Given the description of an element on the screen output the (x, y) to click on. 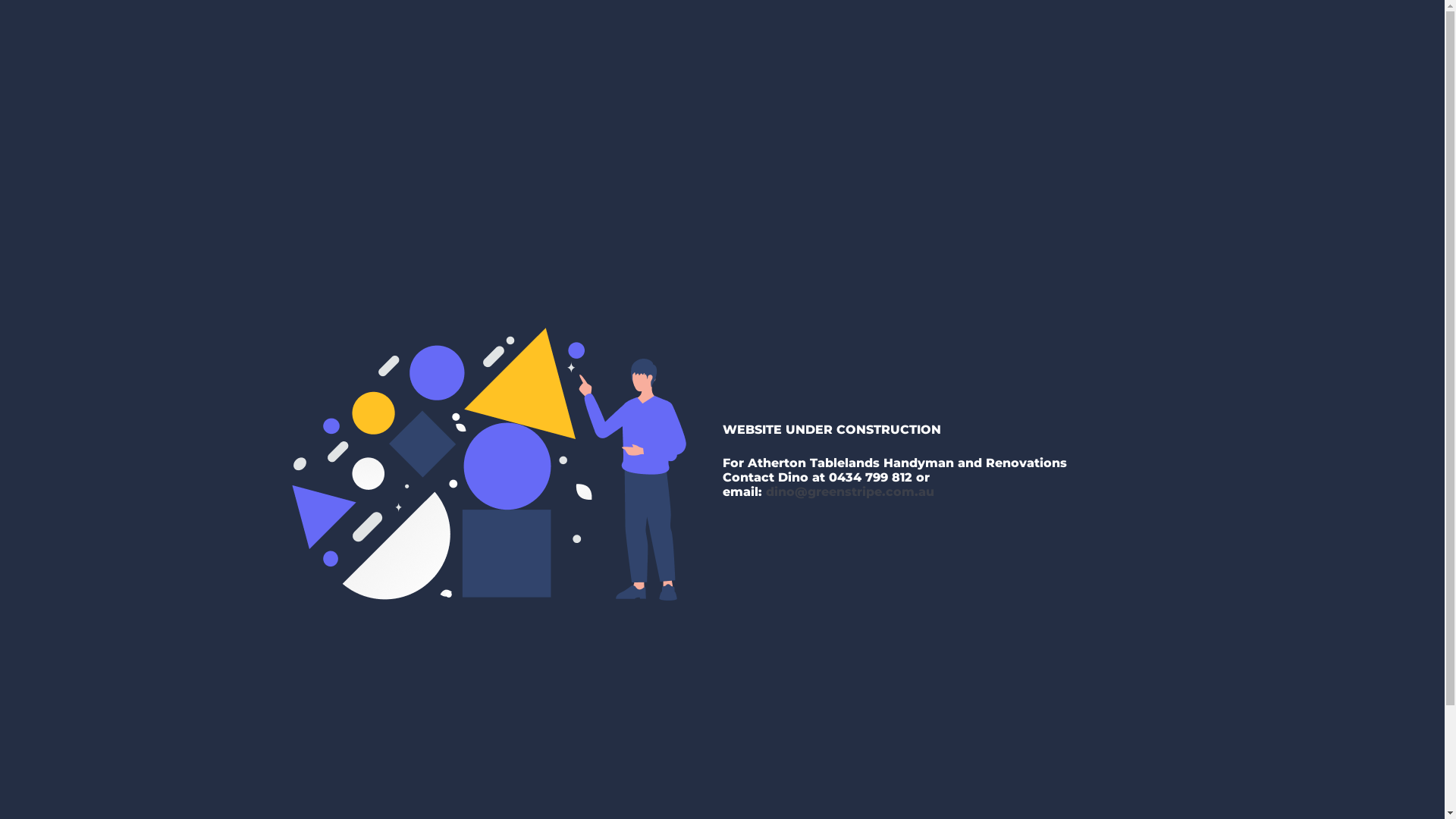
dino@greenstripe.com.au Element type: text (849, 491)
